Given the description of an element on the screen output the (x, y) to click on. 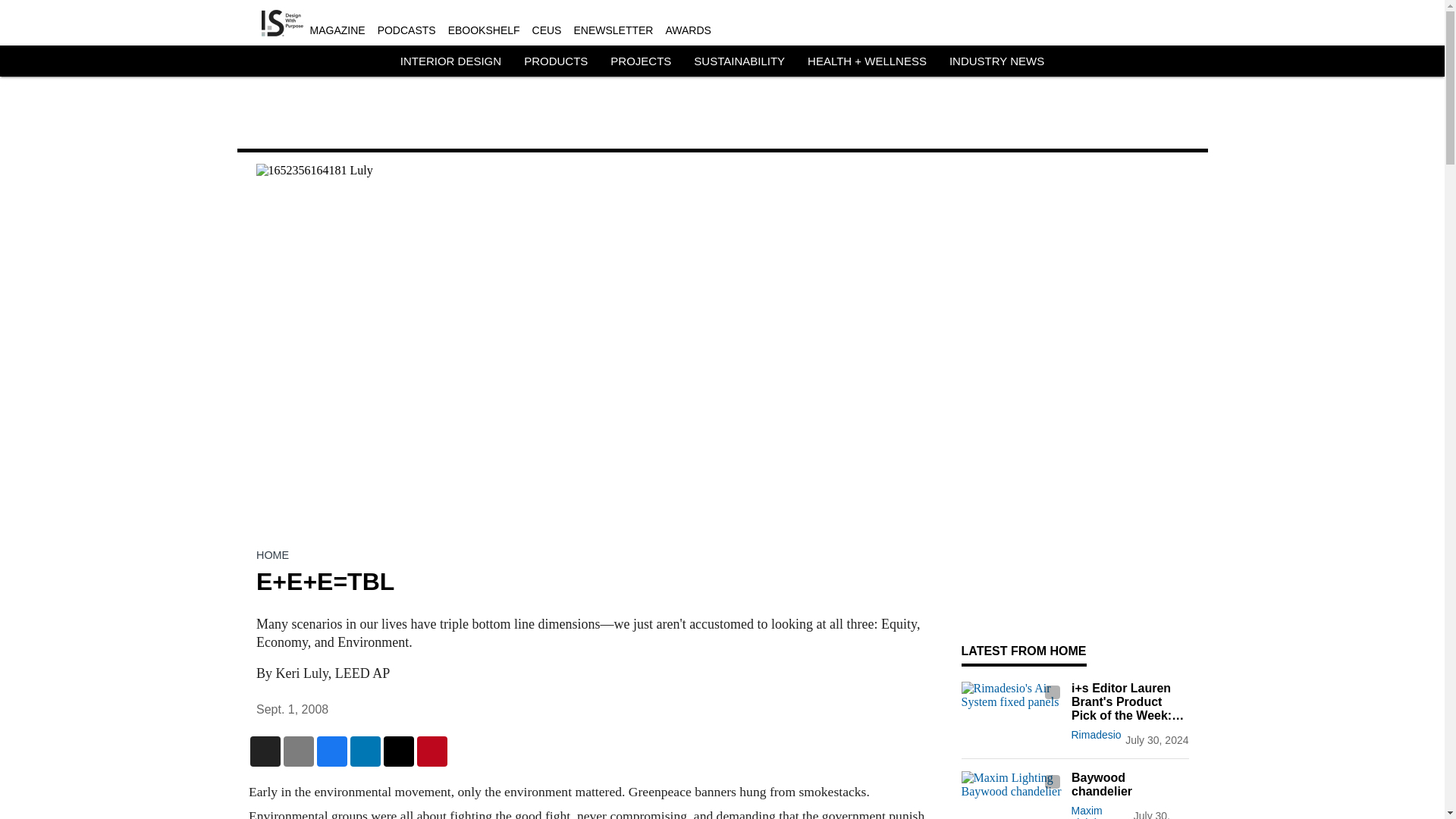
Baywood chandelier (1129, 784)
Maxim Lighting Baywood chandelier (1012, 795)
ENEWSLETTER (612, 30)
Maxim Lighting (1089, 811)
PRODUCTS (556, 60)
INDUSTRY NEWS (996, 60)
PROJECTS (640, 60)
PODCASTS (406, 30)
Rimadesio's Air System fixed panels (1012, 709)
INTERIOR DESIGN (450, 60)
SUSTAINABILITY (739, 60)
AWARDS (687, 30)
EBOOKSHELF (483, 30)
Rimadesio (1095, 734)
CEUS (547, 30)
